Given the description of an element on the screen output the (x, y) to click on. 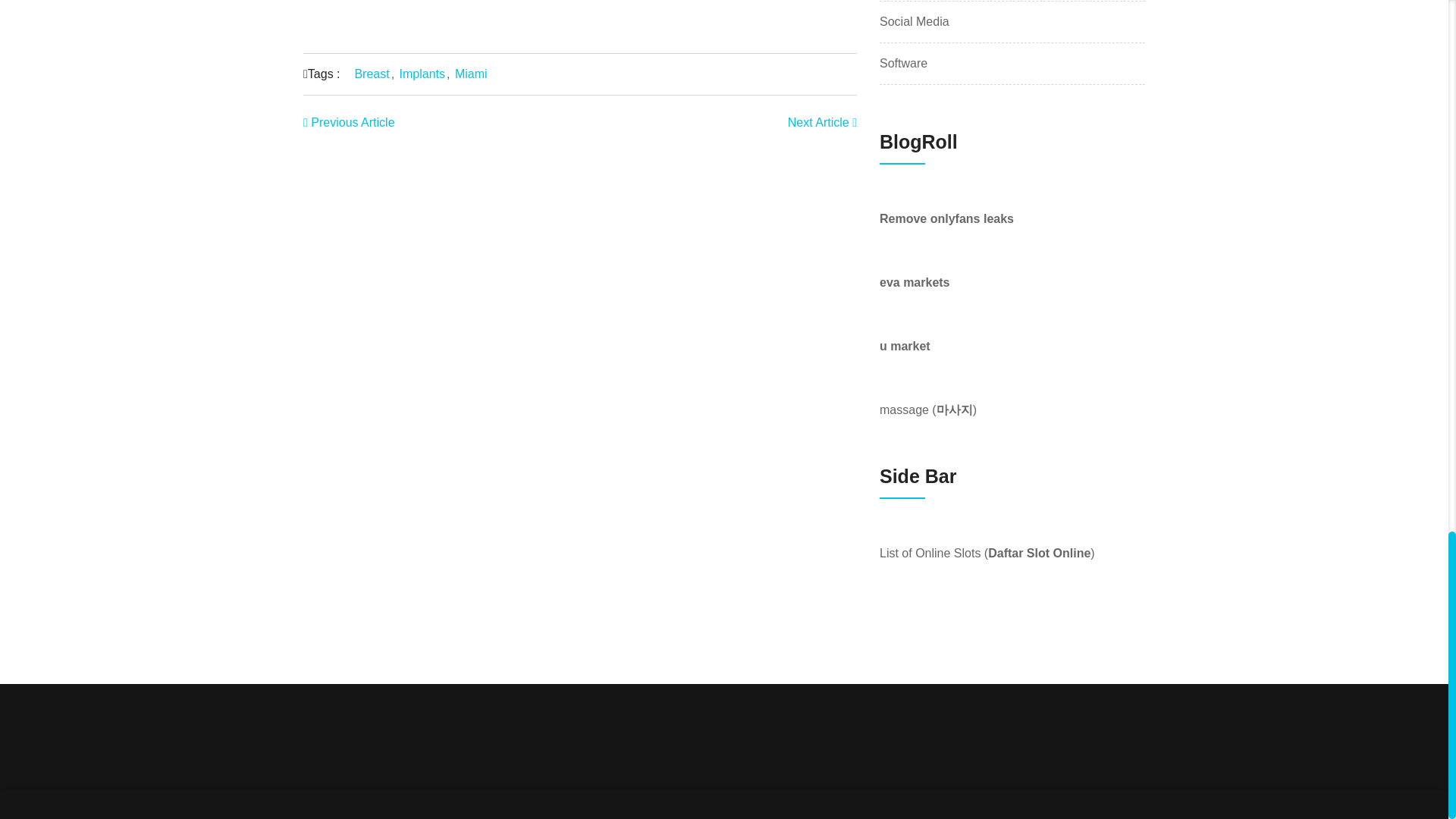
Remove onlyfans leaks (946, 218)
Miami (470, 73)
Next Article (822, 122)
Implants (421, 73)
u market (904, 345)
Previous Article (348, 122)
eva markets (914, 282)
Social Media (914, 22)
Software (903, 63)
Breast (370, 73)
